Given the description of an element on the screen output the (x, y) to click on. 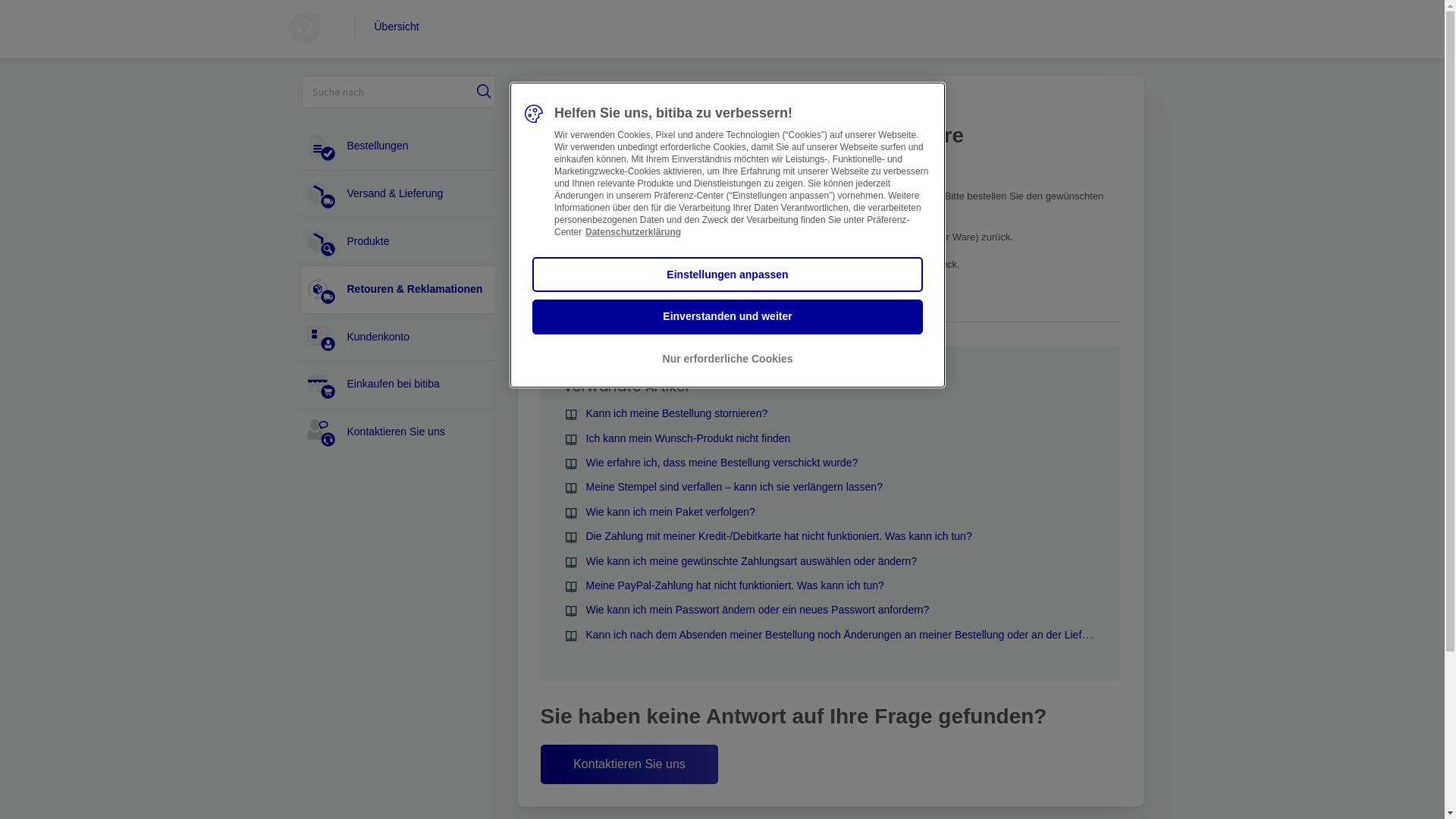
RETOUREN & REKLAMATIONEN Element type: text (686, 105)
STARTSEITE Element type: text (569, 105)
Versand & Lieferung Element type: text (399, 193)
Kontaktieren Sie uns Element type: text (628, 764)
Nur erforderliche Cookies Element type: text (727, 359)
Bestellungen Element type: text (399, 145)
Wie kann ich mein Paket verfolgen? Element type: text (669, 511)
Wie erfahre ich, dass meine Bestellung verschickt wurde? Element type: text (721, 462)
Produkte Element type: text (399, 241)
Einstellungen anpassen Element type: text (727, 274)
Kundenkonto Element type: text (399, 336)
Einkaufen bei bitiba Element type: text (399, 383)
RETOUREN Element type: text (801, 105)
Retouren & Reklamationen Element type: text (399, 289)
Einverstanden und weiter Element type: text (727, 316)
Kontaktieren Sie uns Element type: text (399, 431)
Kann ich meine Bestellung stornieren? Element type: text (676, 413)
Ich kann mein Wunsch-Produkt nicht finden Element type: text (687, 438)
